Given the description of an element on the screen output the (x, y) to click on. 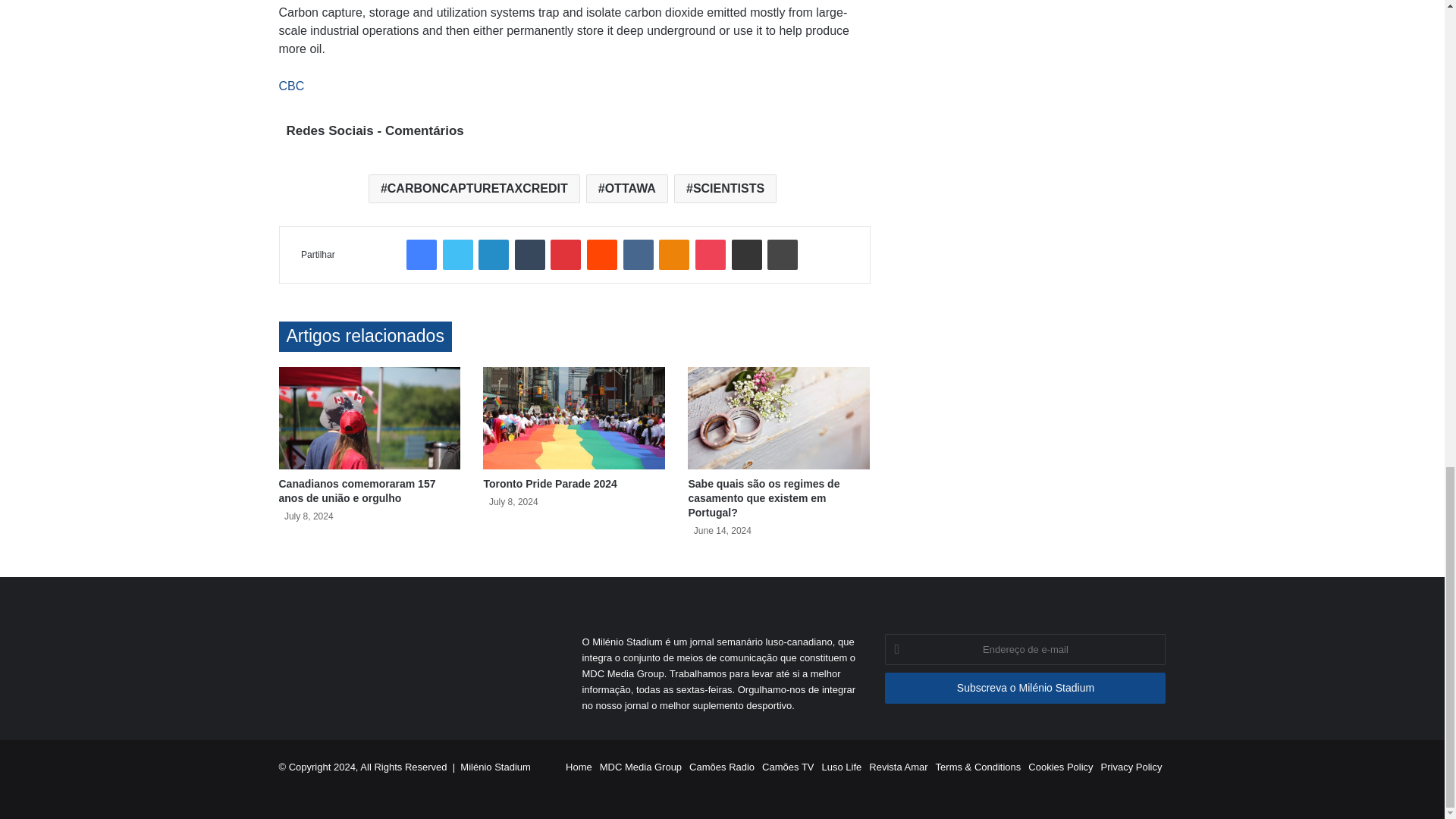
VKontakte (638, 254)
Tumblr (529, 254)
Odnoklassniki (673, 254)
Imprimir (782, 254)
Twitter (457, 254)
Pinterest (565, 254)
Pocket (710, 254)
Reddit (601, 254)
Partilha via e-mail (746, 254)
LinkedIn (493, 254)
